Given the description of an element on the screen output the (x, y) to click on. 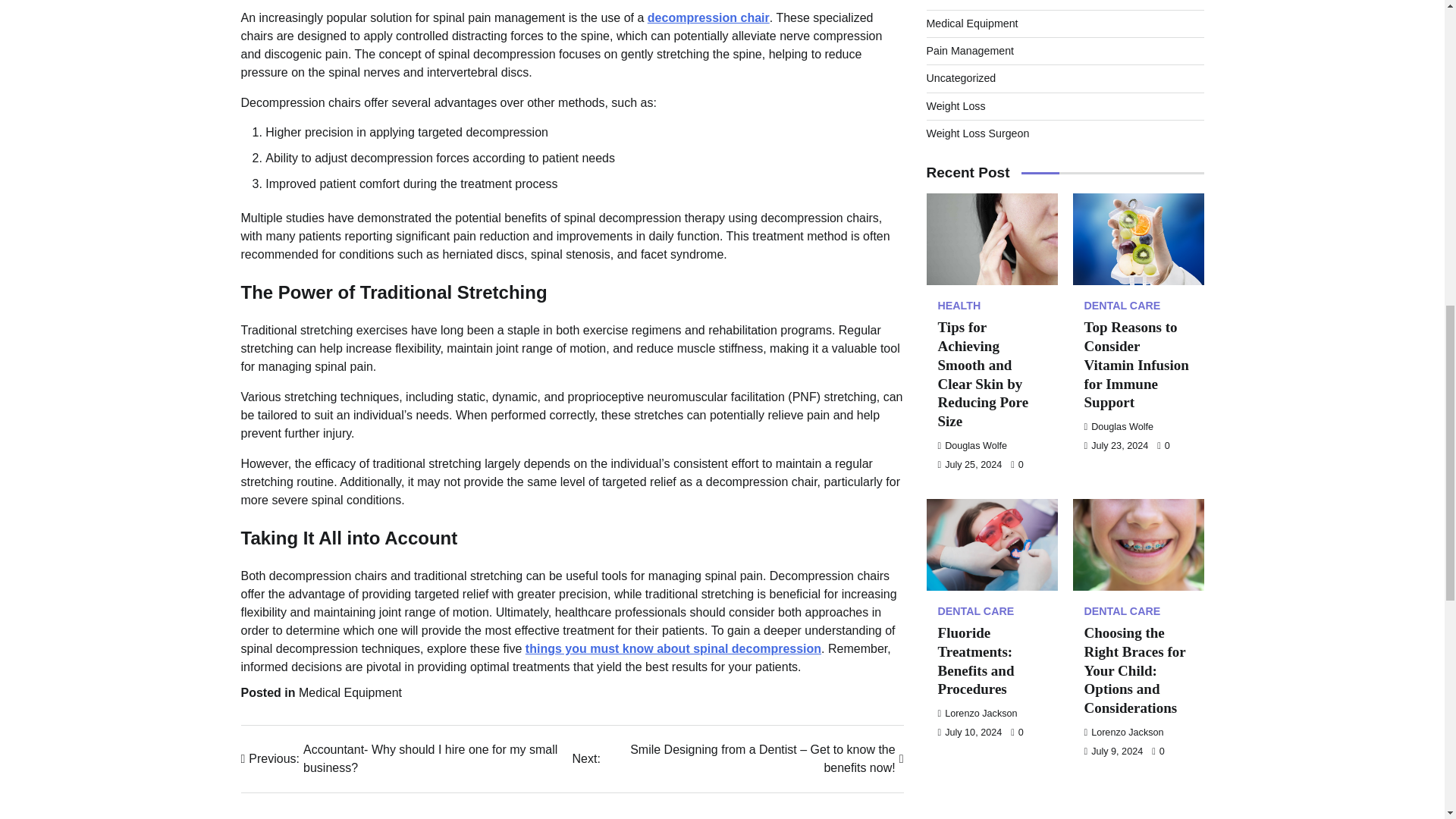
Douglas Wolfe (972, 114)
things you must know about spinal decompression (673, 648)
decompression chair (708, 17)
Top Reasons to Consider Vitamin Infusion for Immune Support (1136, 39)
Douglas Wolfe (1119, 95)
Medical Equipment (349, 692)
